Given the description of an element on the screen output the (x, y) to click on. 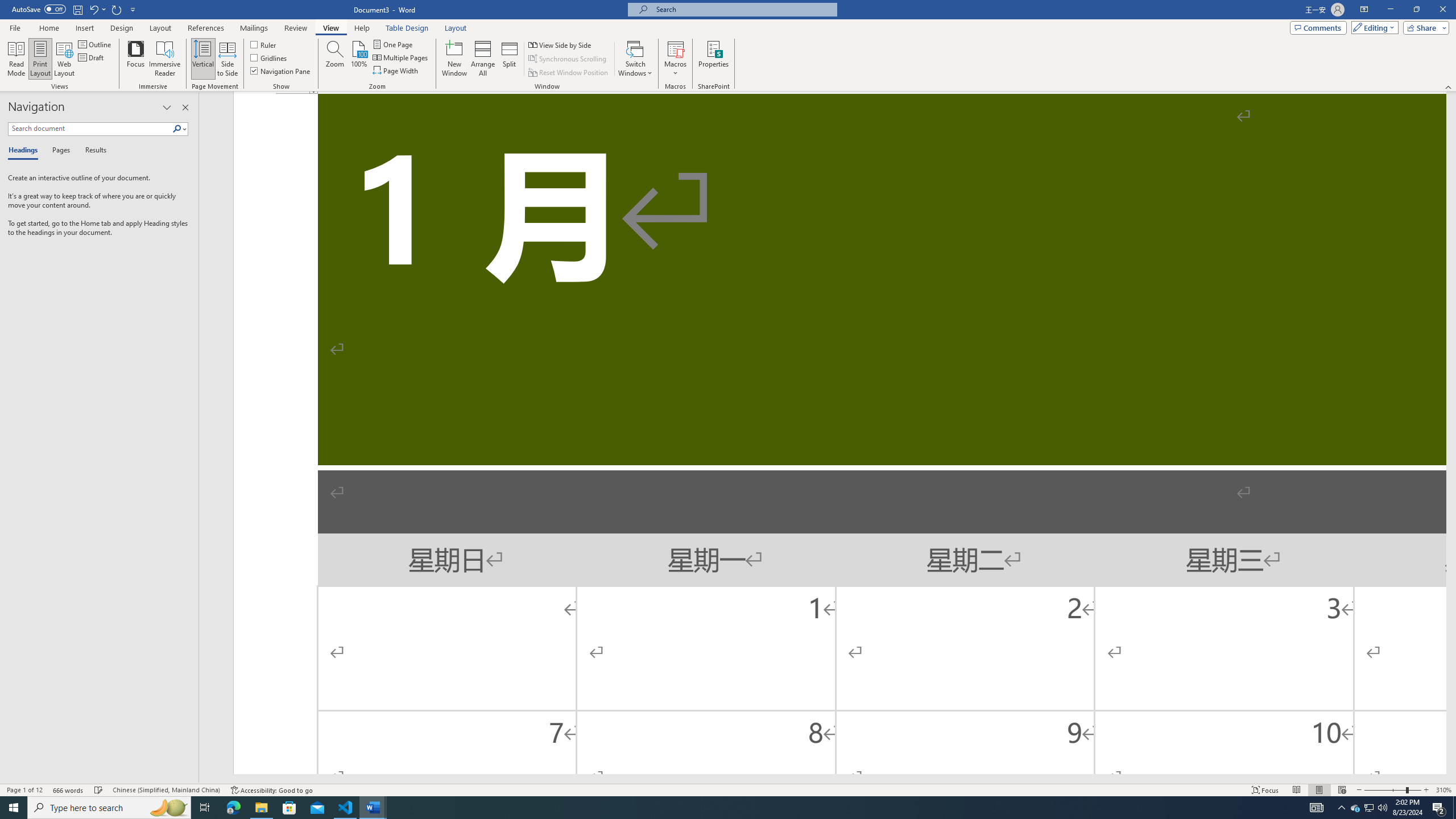
Zoom Out (1385, 790)
Save (77, 9)
Arrange All (483, 58)
Results (91, 150)
Close pane (185, 107)
Customize Quick Access Toolbar (133, 9)
Restore Down (1416, 9)
